Given the description of an element on the screen output the (x, y) to click on. 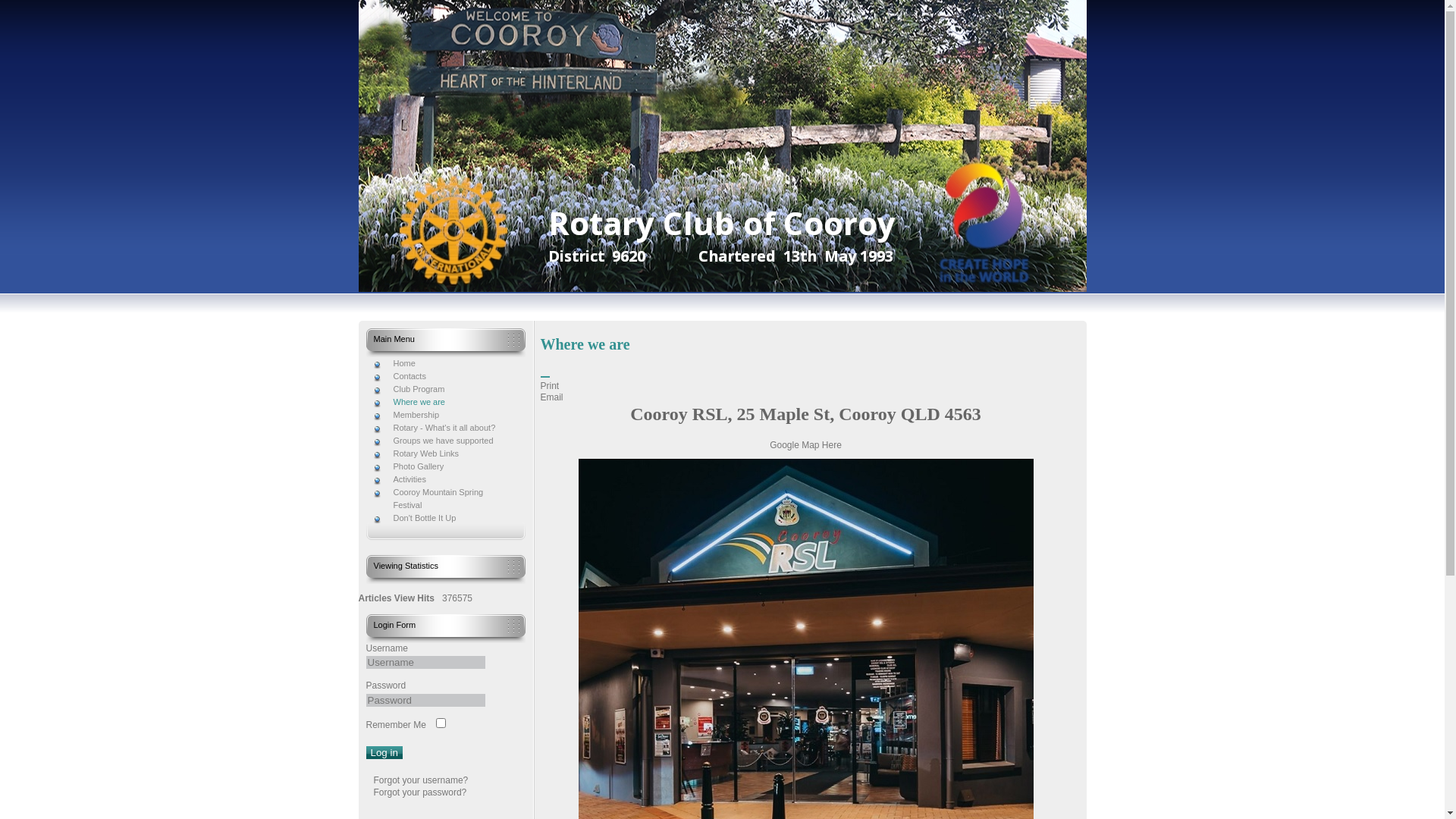
Activities Element type: text (445, 479)
Where we are Element type: text (445, 401)
Rotary Web Links Element type: text (445, 453)
Membership Element type: text (445, 414)
Cooroy Mountain Spring Festival Element type: text (445, 498)
Contacts Element type: text (445, 376)
Home Element type: text (445, 363)
Rotary - What's it all about? Element type: text (445, 427)
Don't Bottle It Up Element type: text (445, 517)
Forgot your password? Element type: text (419, 792)
Club Program Element type: text (445, 388)
Log in Element type: text (383, 752)
Print Element type: text (548, 385)
Email Element type: text (550, 397)
Photo Gallery Element type: text (445, 466)
Google Map Here Element type: text (805, 444)
Groups we have supported Element type: text (445, 440)
Forgot your username? Element type: text (420, 780)
